Given the description of an element on the screen output the (x, y) to click on. 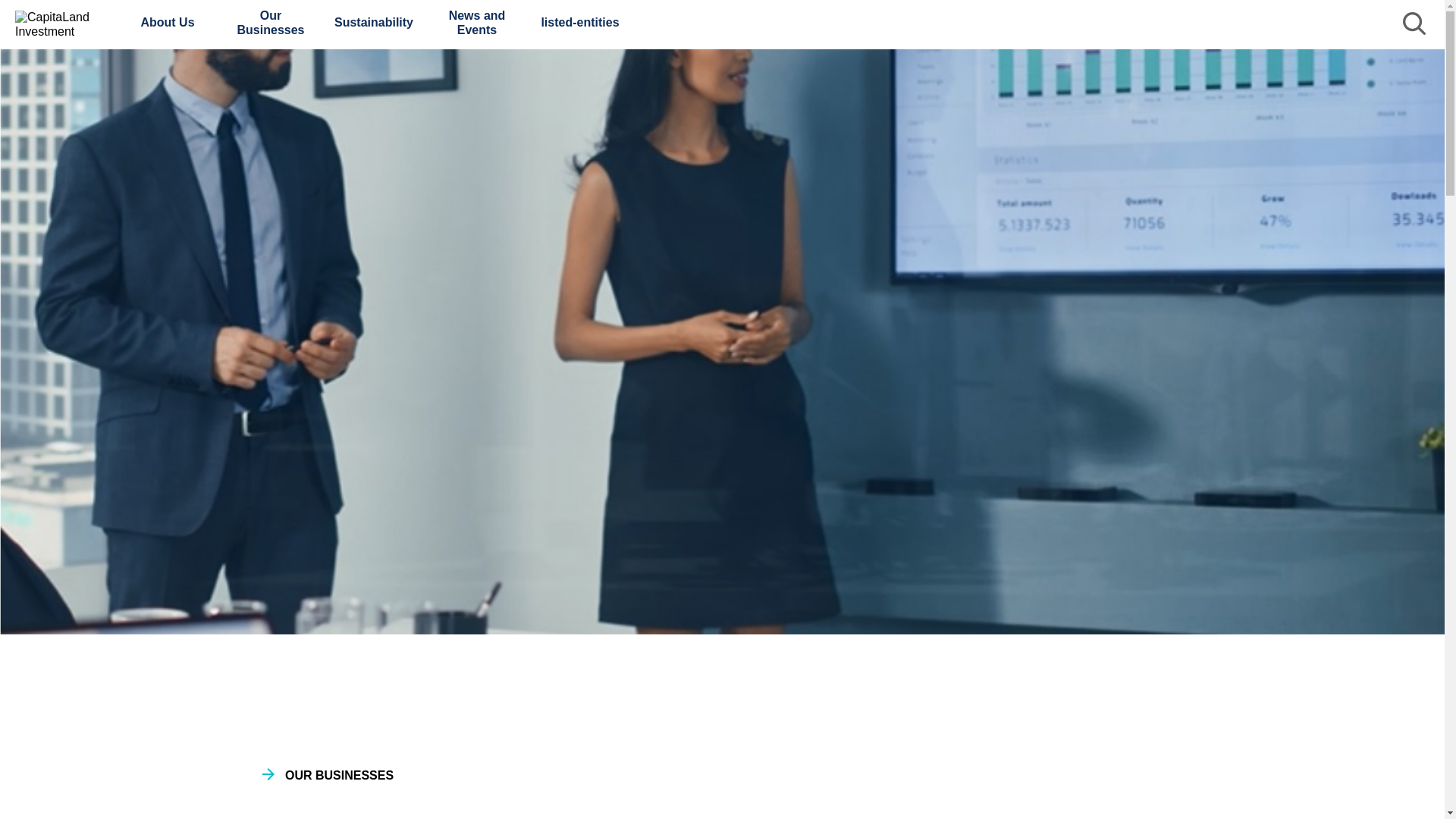
Our Businesses (270, 22)
Sustainability (373, 22)
About Us (166, 22)
listed-entities (579, 22)
News and Events (476, 22)
